Given the description of an element on the screen output the (x, y) to click on. 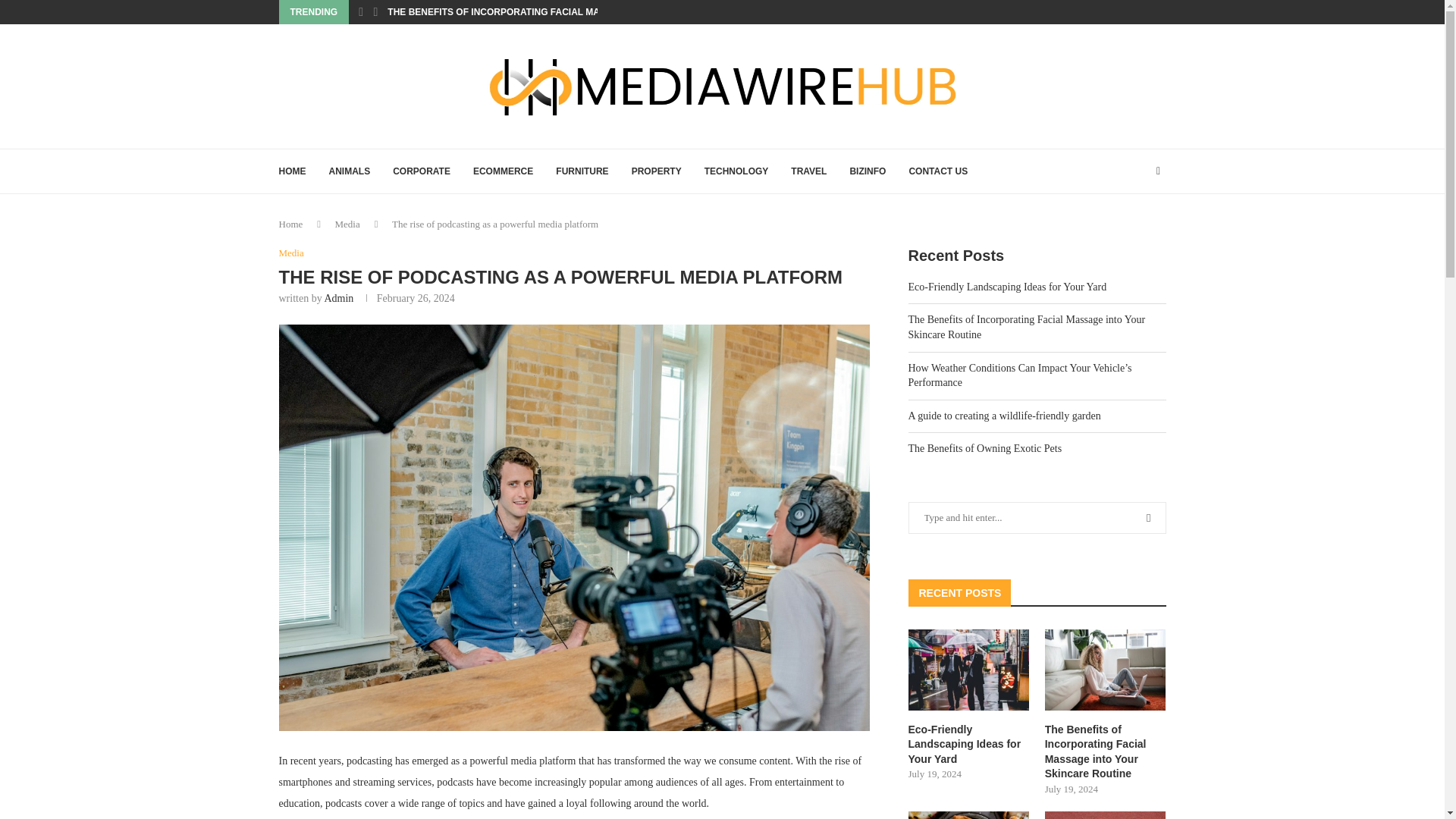
Home (290, 224)
THE BENEFITS OF INCORPORATING FACIAL MASSAGE INTO YOUR... (539, 12)
ECOMMERCE (502, 171)
Media (346, 224)
CONTACT US (938, 171)
TECHNOLOGY (736, 171)
CORPORATE (421, 171)
PROPERTY (656, 171)
ANIMALS (350, 171)
Media (291, 253)
FURNITURE (582, 171)
